Given the description of an element on the screen output the (x, y) to click on. 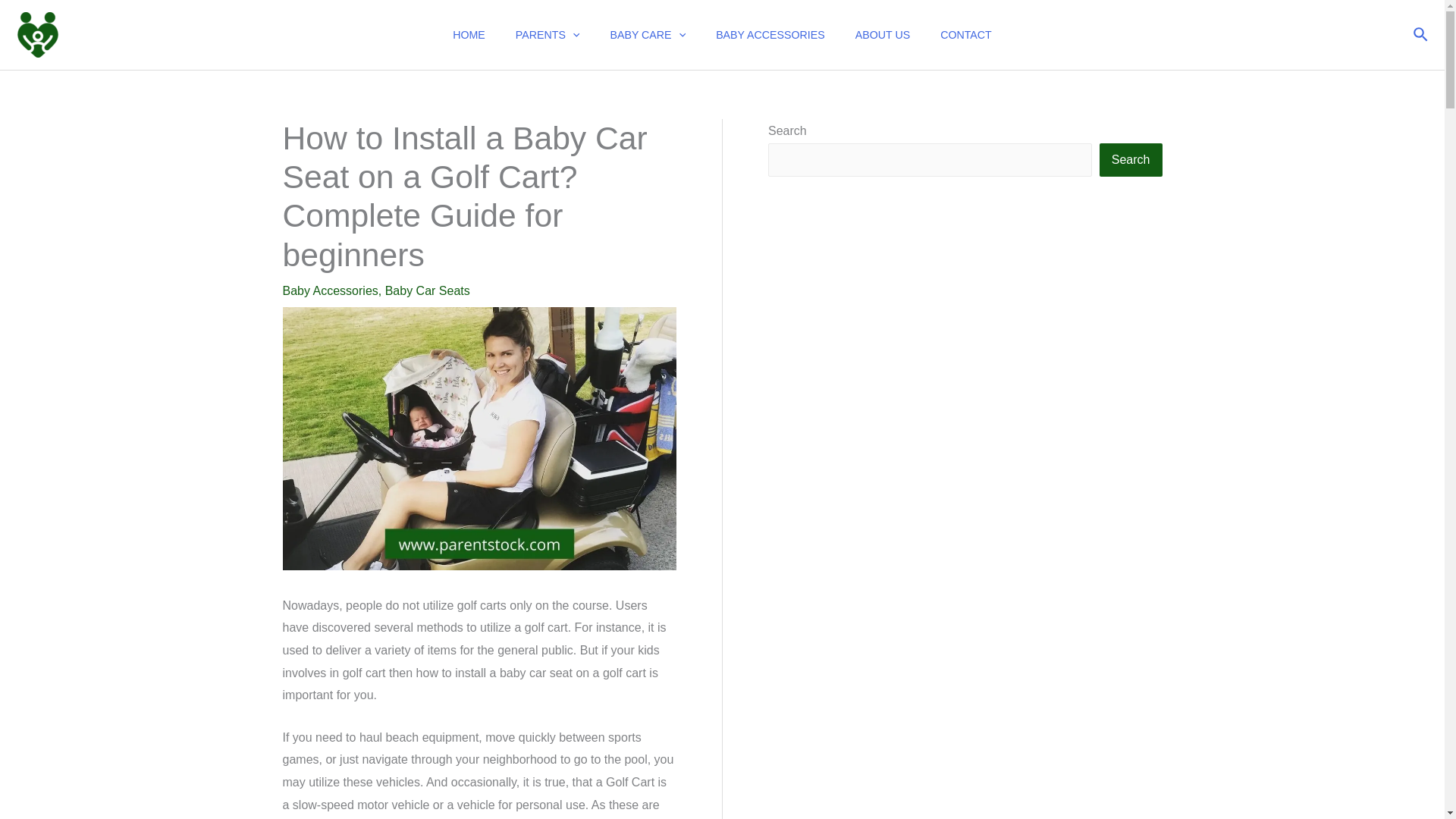
Baby Accessories (329, 290)
ABOUT US (882, 34)
HOME (469, 34)
CONTACT (965, 34)
BABY CARE (647, 34)
BABY ACCESSORIES (770, 34)
Baby Car Seats (427, 290)
PARENTS (547, 34)
